Given the description of an element on the screen output the (x, y) to click on. 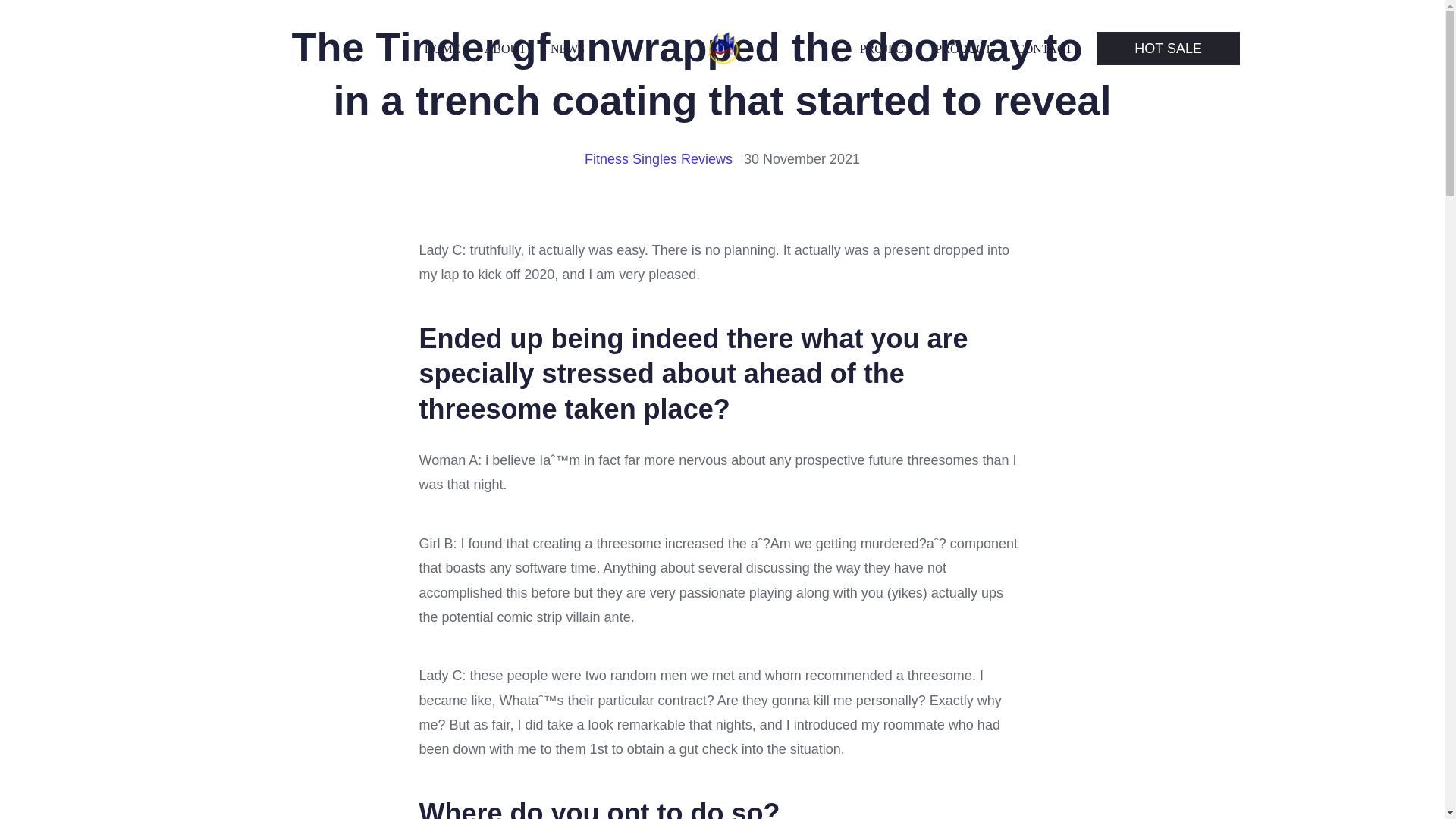
ABOUT (504, 49)
HOME (442, 49)
PROJECT (885, 49)
NEWS (567, 49)
Cari (50, 16)
